Given the description of an element on the screen output the (x, y) to click on. 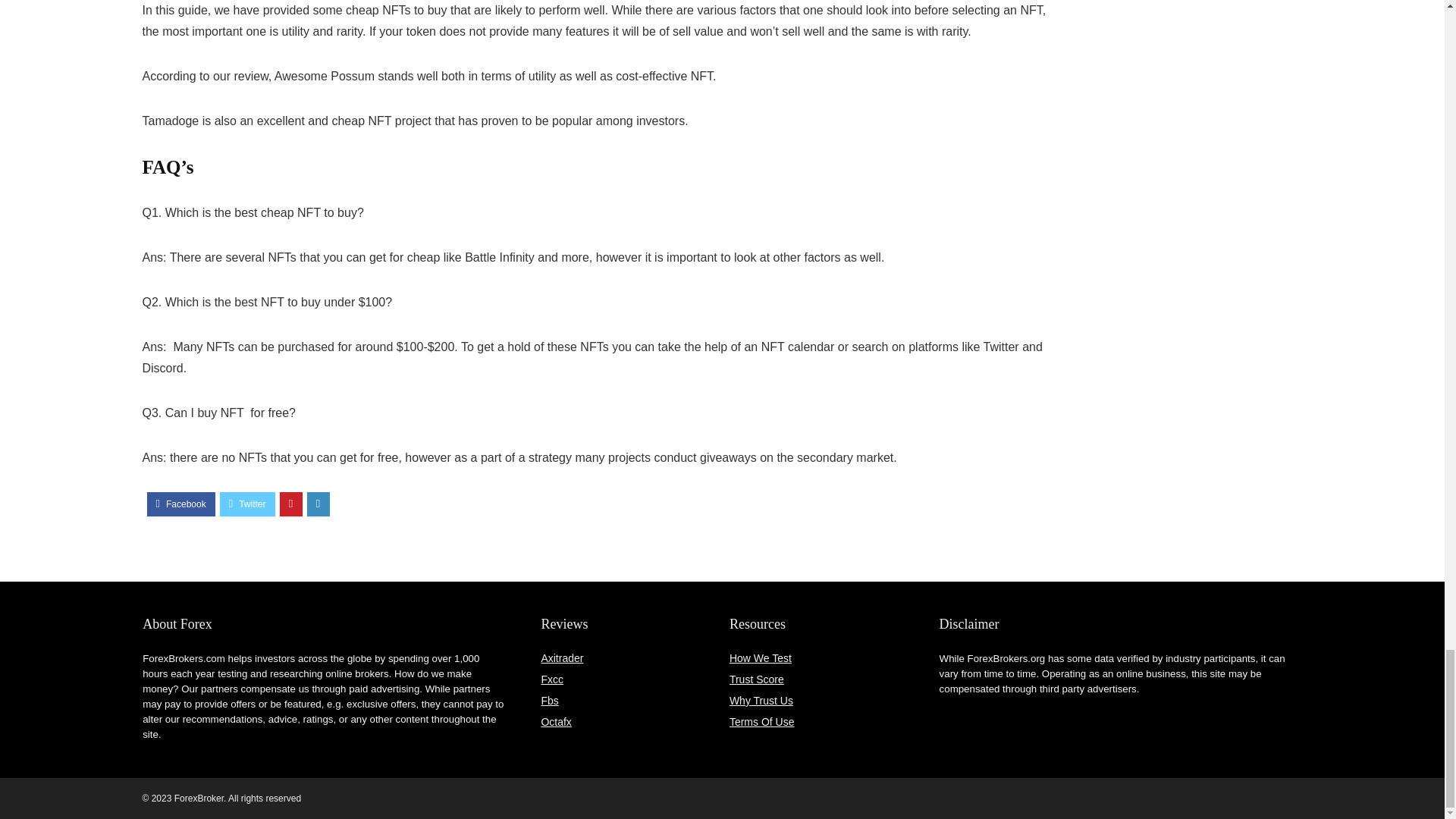
Trust Score (756, 679)
Fxcc (551, 679)
Octafx (555, 721)
Axitrader (561, 657)
Fbs (548, 700)
How We Test (760, 657)
Terms Of Use (761, 721)
Why Trust Us (761, 700)
